Given the description of an element on the screen output the (x, y) to click on. 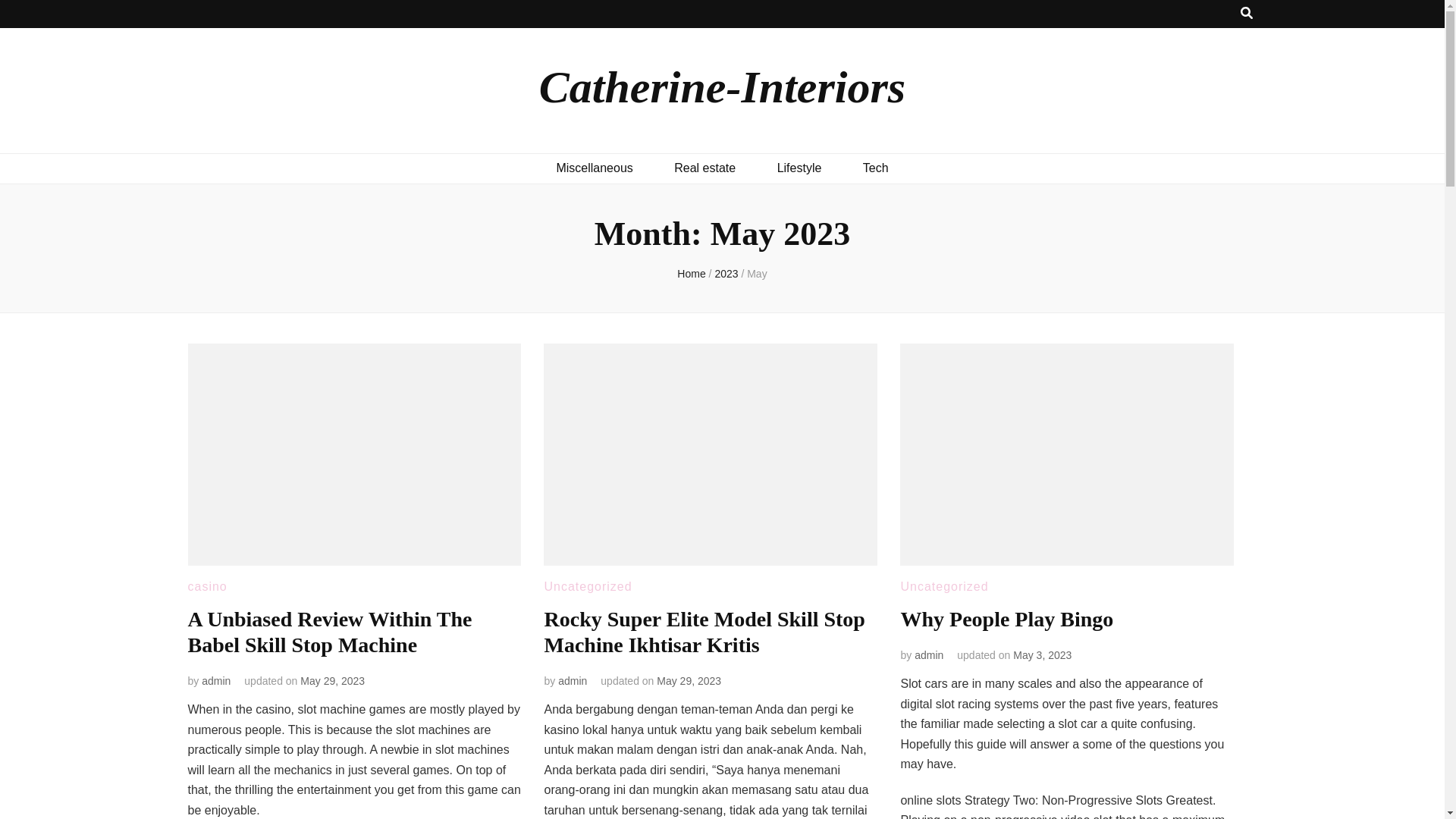
2023 (727, 273)
May 29, 2023 (332, 680)
admin (216, 680)
May (756, 273)
Lifestyle (799, 168)
casino (207, 585)
Catherine-Interiors (721, 87)
May 29, 2023 (688, 680)
Why People Play Bingo (1006, 618)
Rocky Super Elite Model Skill Stop Machine Ikhtisar Kritis (703, 631)
